Given the description of an element on the screen output the (x, y) to click on. 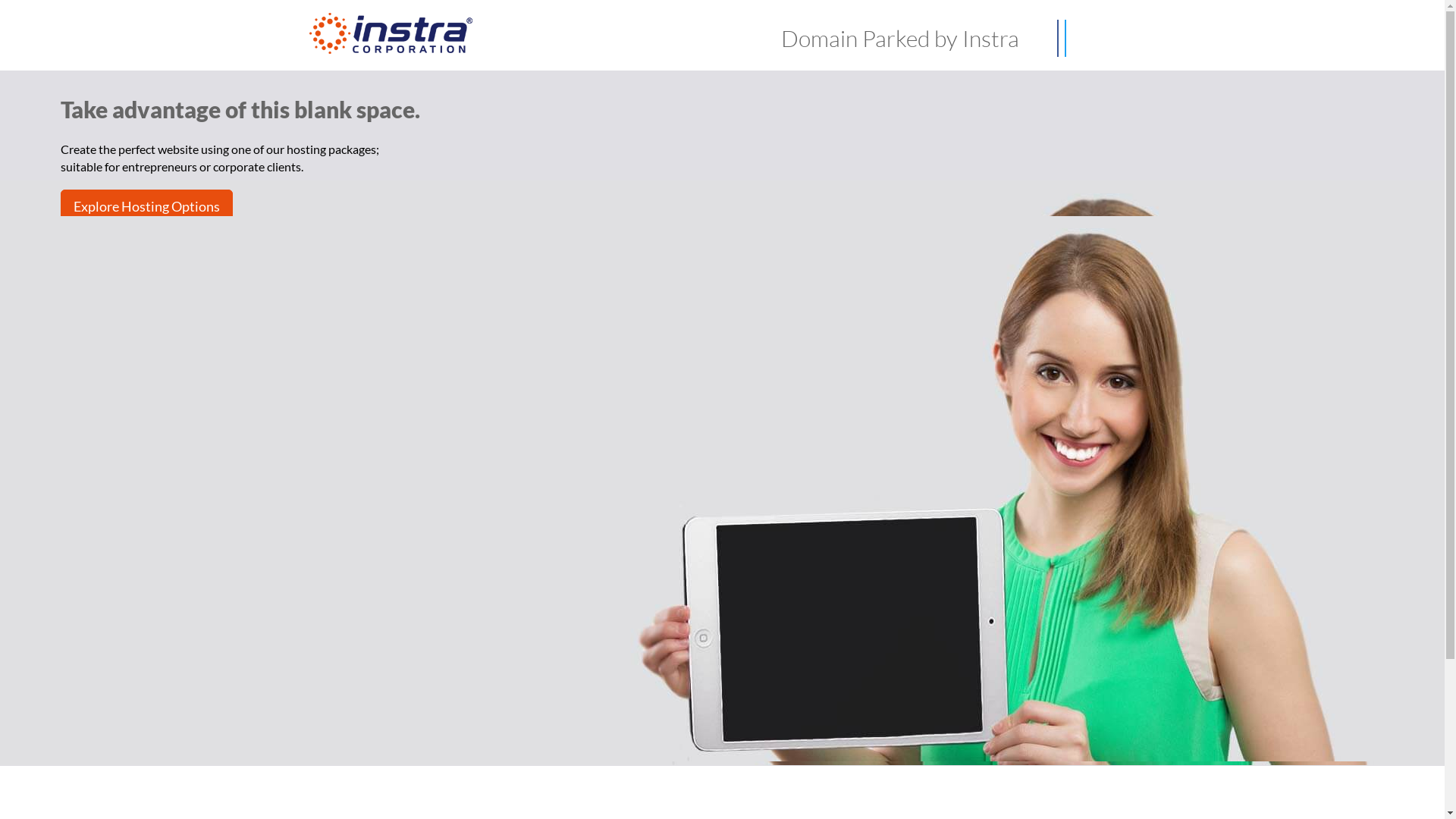
Explore Hosting Options Element type: text (146, 205)
